Given the description of an element on the screen output the (x, y) to click on. 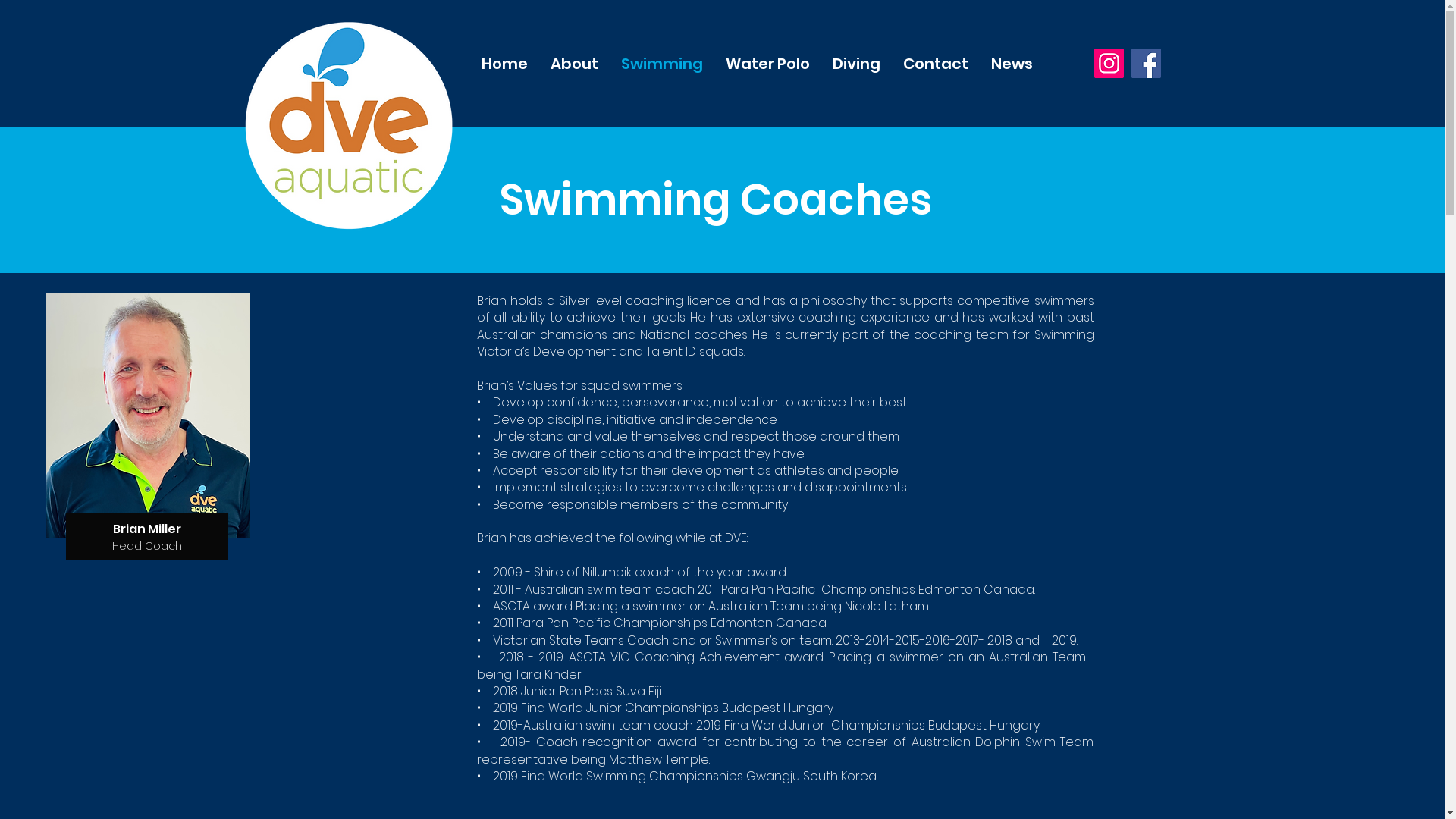
Swimming Element type: text (661, 63)
Diving Element type: text (855, 63)
Contact Element type: text (935, 63)
About Element type: text (573, 63)
News Element type: text (1011, 63)
Water Polo Element type: text (767, 63)
Home Element type: text (504, 63)
